Given the description of an element on the screen output the (x, y) to click on. 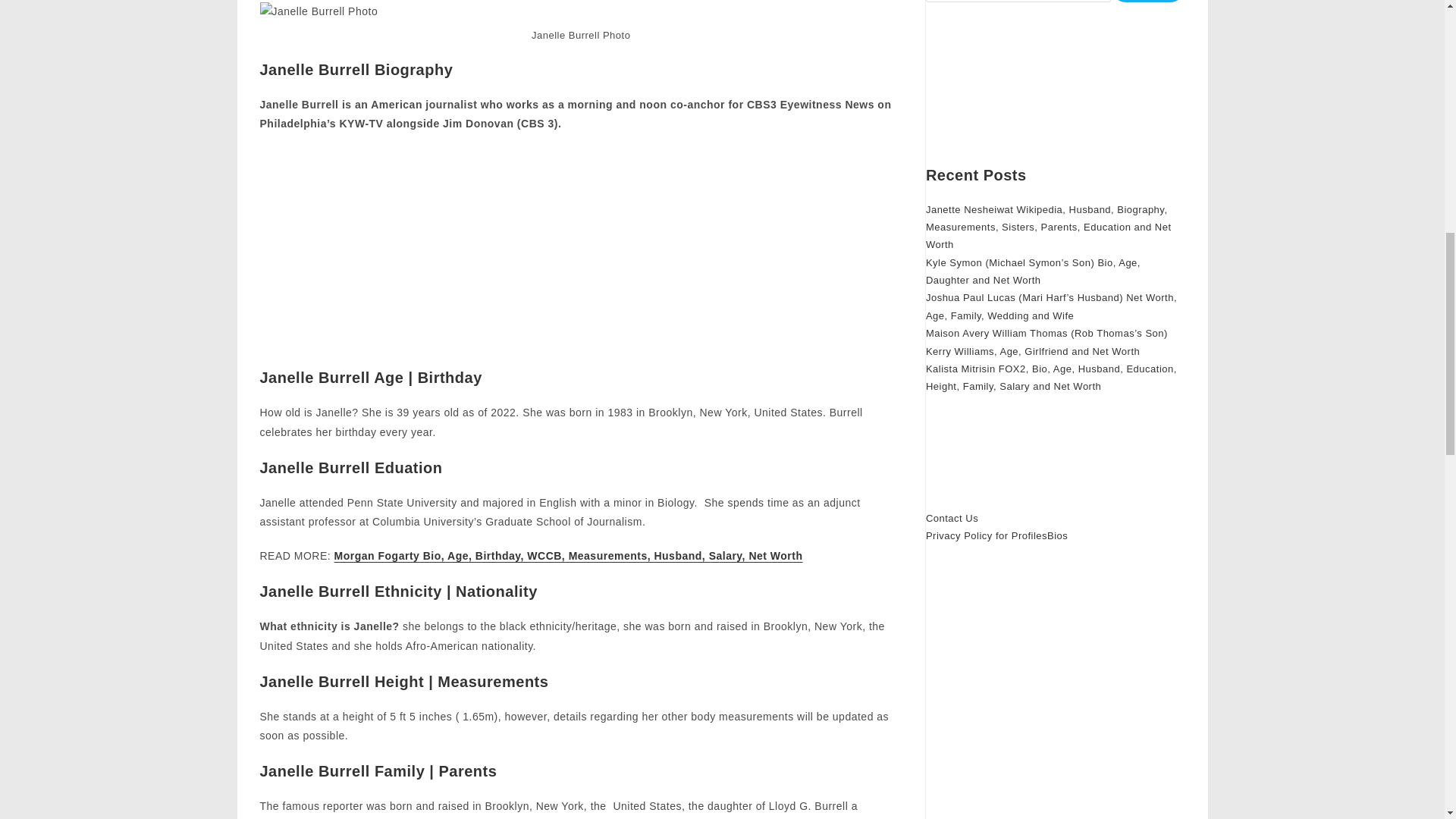
Privacy Policy for ProfilesBios (996, 535)
Advertisement (580, 254)
SEARCH (1147, 1)
Contact Us (952, 518)
